Given the description of an element on the screen output the (x, y) to click on. 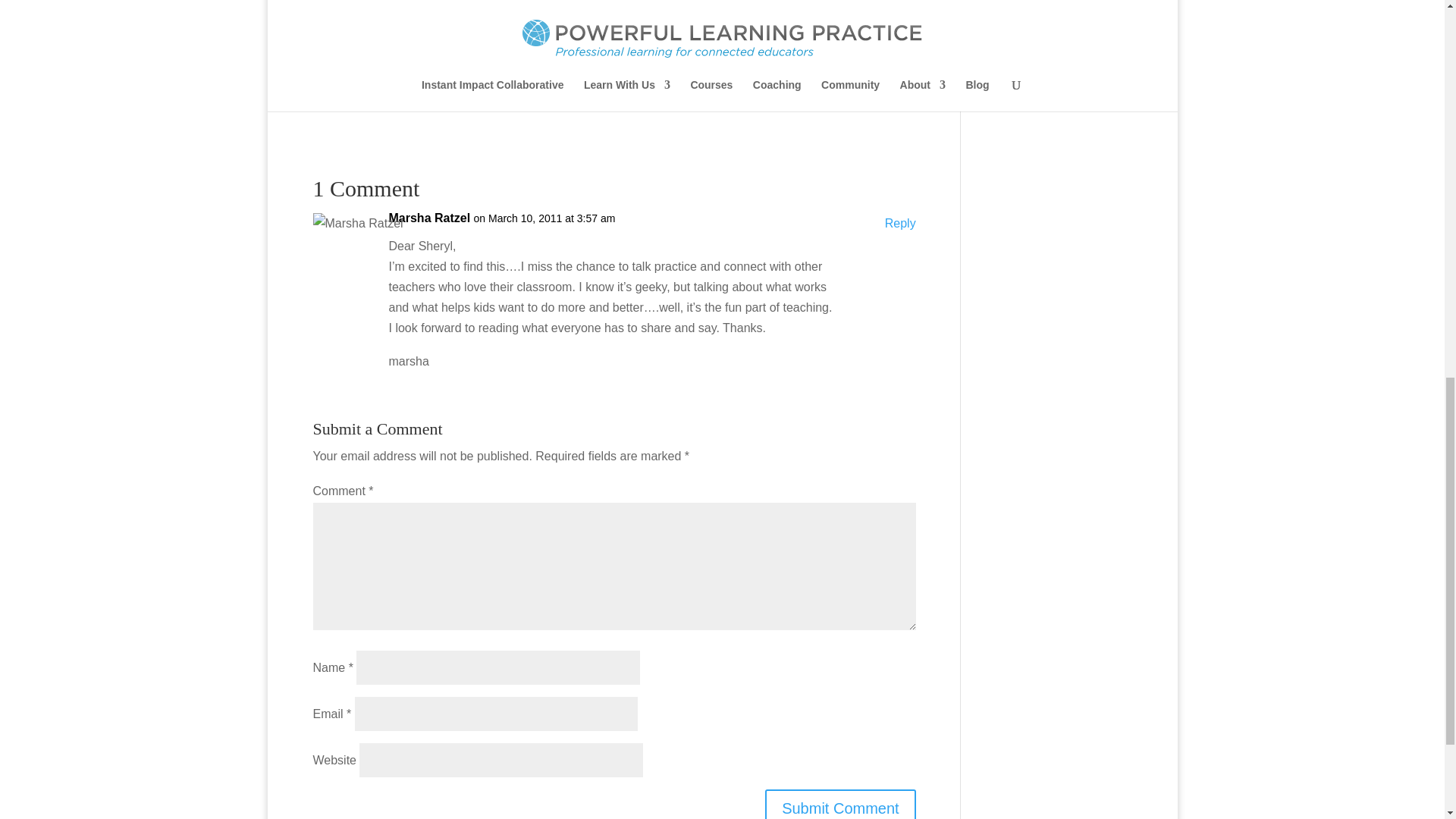
Twitter (327, 94)
Facebook (357, 94)
Facebook (357, 94)
Bio (336, 10)
Latest Posts (407, 10)
Submit Comment (840, 804)
Pinterest (387, 94)
Twitter (327, 94)
Pinterest (387, 94)
